Given the description of an element on the screen output the (x, y) to click on. 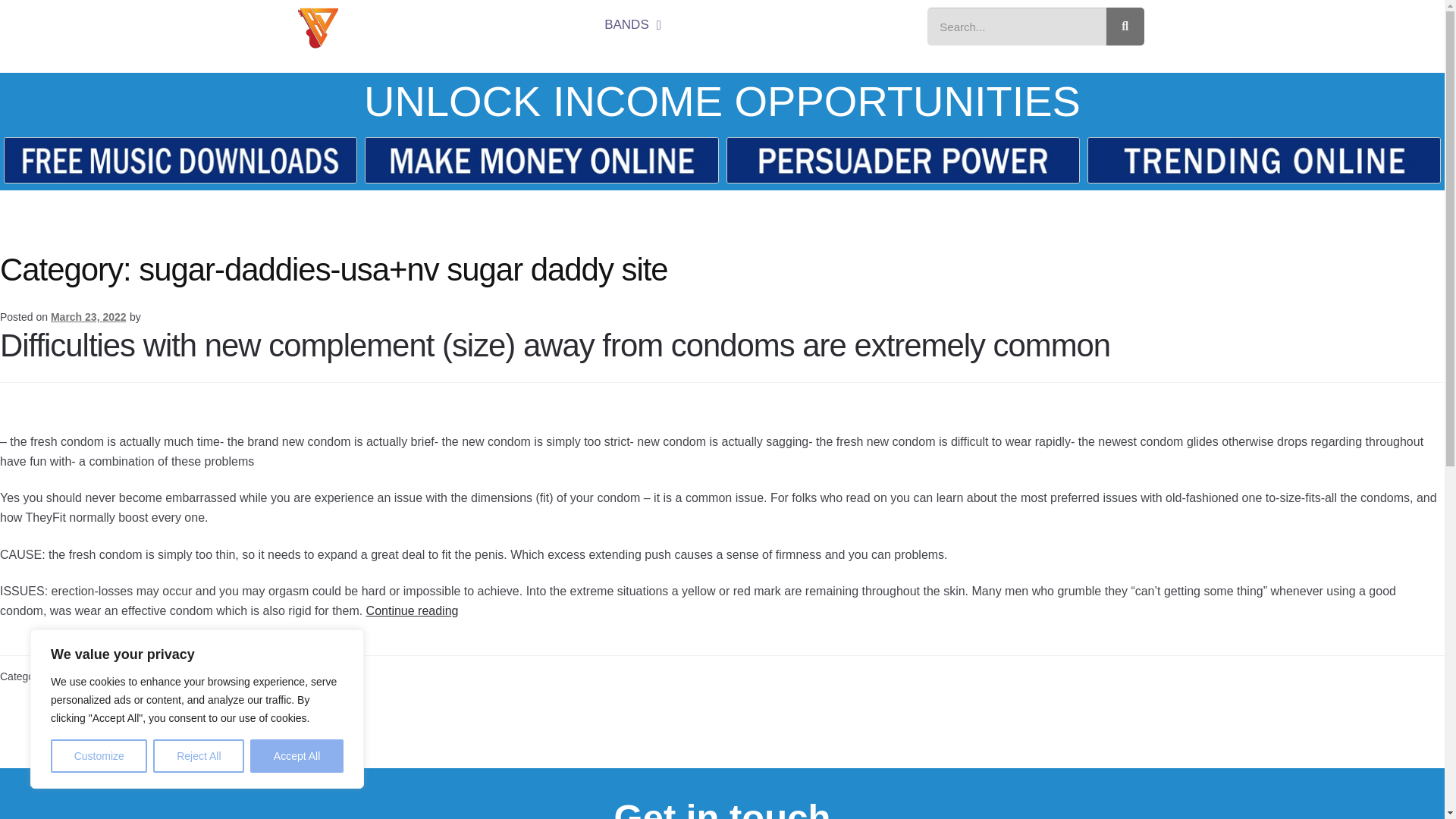
Customize (98, 756)
cropped-300px-Band-Duals-by-Jerry.png (317, 27)
BANDS (633, 24)
Search (1016, 26)
Accept All (296, 756)
Search (1125, 26)
Reject All (198, 756)
